Given the description of an element on the screen output the (x, y) to click on. 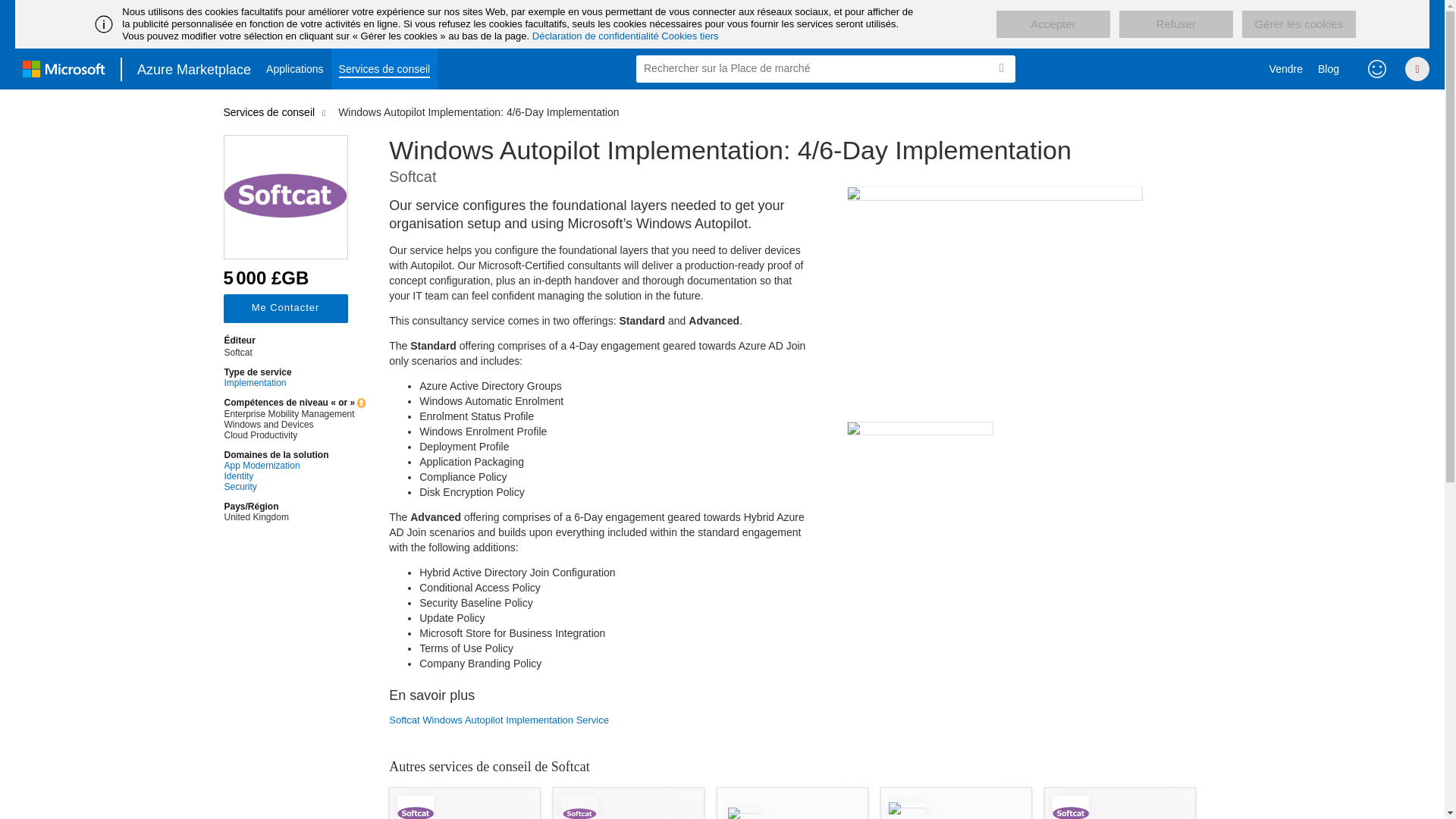
Azure Marketplace (194, 68)
Search (1001, 68)
Services de conseil (384, 68)
Cookies tiers (689, 35)
Blog (1328, 68)
Vendre (1286, 68)
Accepter (1052, 23)
Commentaires (1377, 68)
Applications (295, 68)
Rechercher  (1001, 68)
Refuser (1176, 23)
